Given the description of an element on the screen output the (x, y) to click on. 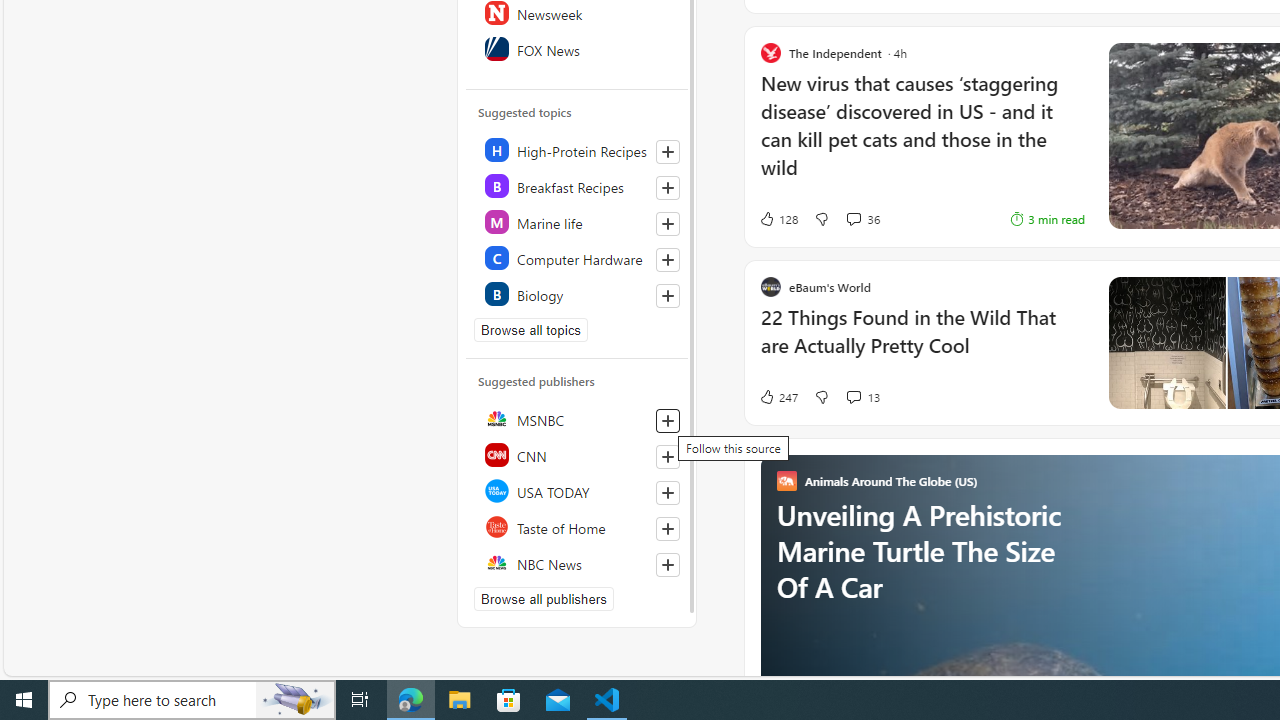
NBC News (578, 562)
Follow this topic (667, 295)
View comments 36 Comment (852, 218)
FOX News (578, 48)
USA TODAY (578, 490)
Browse all topics (530, 330)
View comments 13 Comment (862, 396)
Class: highlight (578, 293)
Taste of Home (578, 526)
247 Like (778, 396)
22 Things Found in the Wild That are Actually Pretty Cool (922, 341)
128 Like (778, 219)
